Given the description of an element on the screen output the (x, y) to click on. 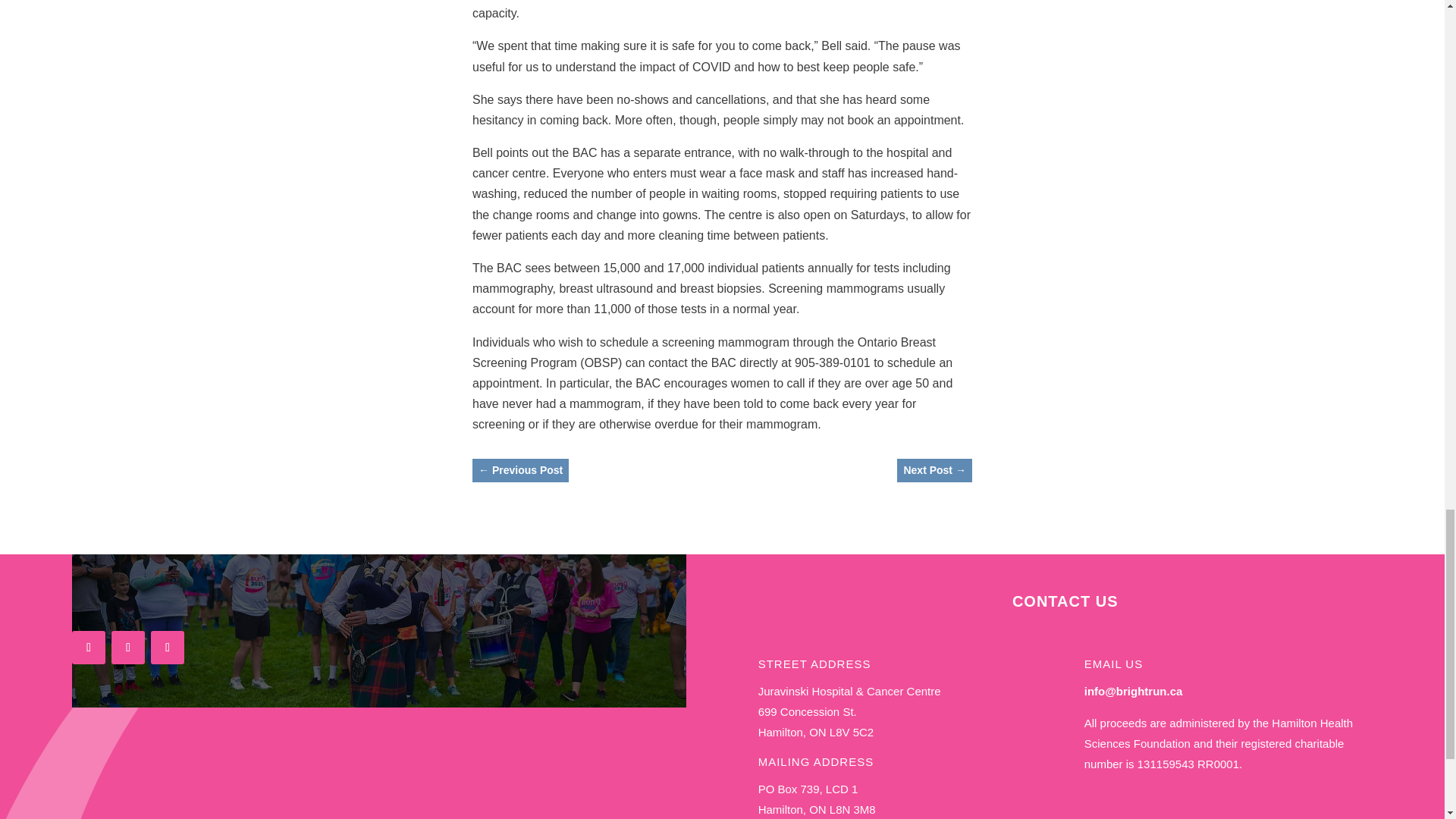
Follow on Youtube (167, 647)
Follow on Instagram (128, 647)
Follow on Facebook (87, 647)
